Given the description of an element on the screen output the (x, y) to click on. 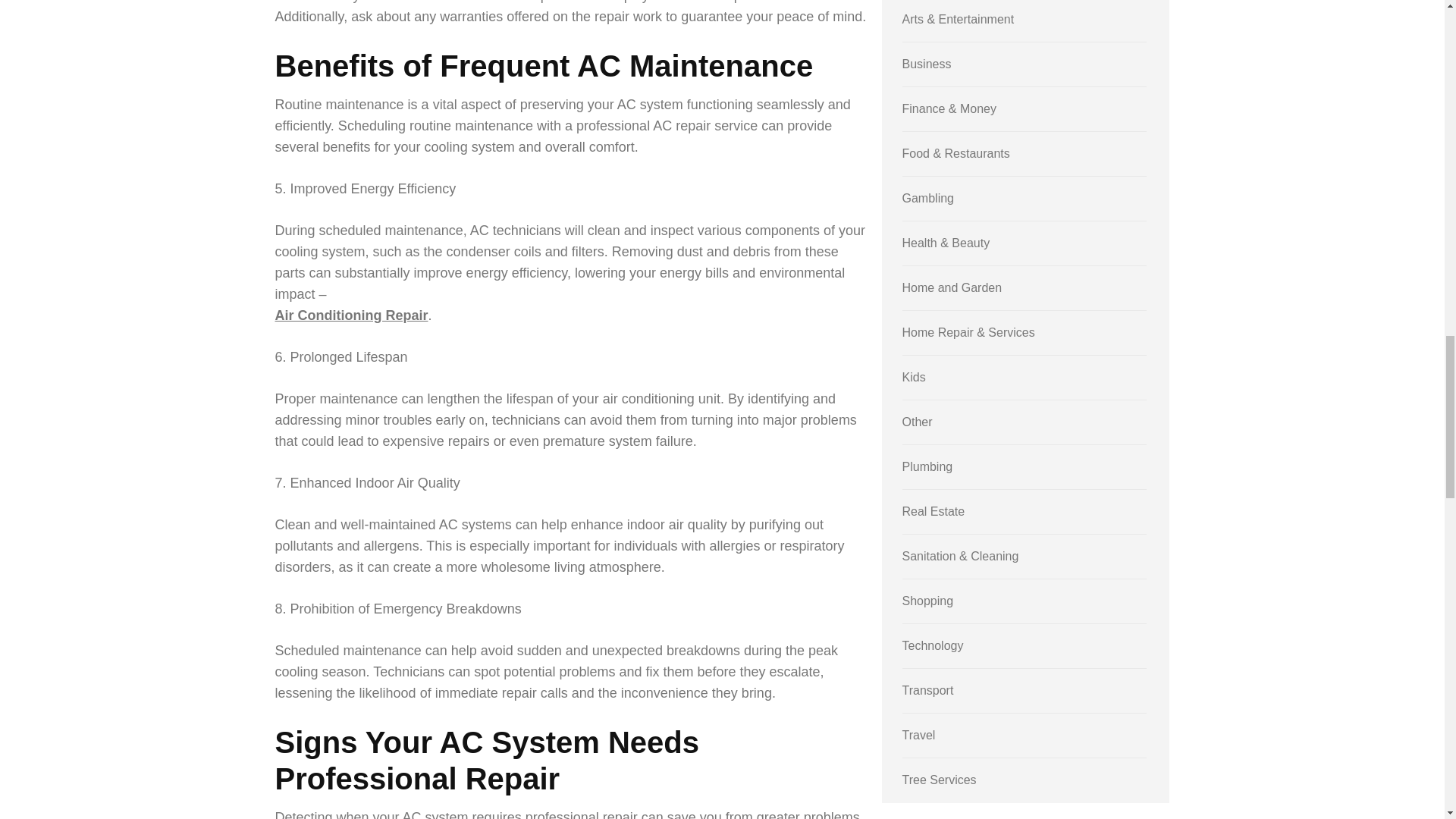
Air Conditioning Repair (351, 314)
